Given the description of an element on the screen output the (x, y) to click on. 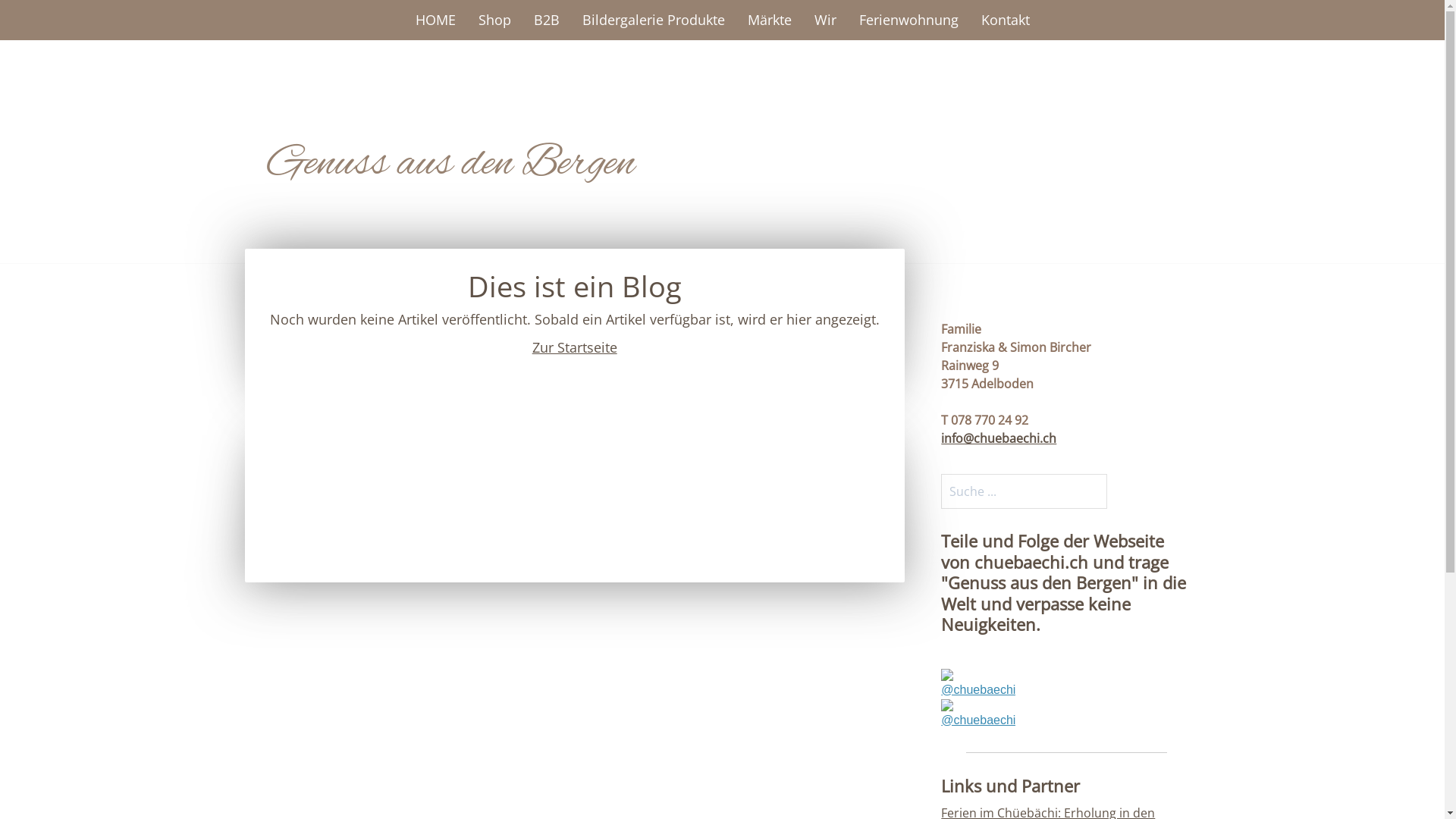
HOME Element type: text (434, 20)
Wir Element type: text (824, 20)
Zur Startseite Element type: text (574, 347)
Genuss aus den Bergen Element type: text (450, 169)
Bildergalerie Produkte Element type: text (652, 20)
Ferienwohnung Element type: text (908, 20)
B2B Element type: text (545, 20)
Shop Element type: text (494, 20)
Kontakt Element type: text (1004, 20)
info@chuebaechi.ch Element type: text (998, 437)
